Given the description of an element on the screen output the (x, y) to click on. 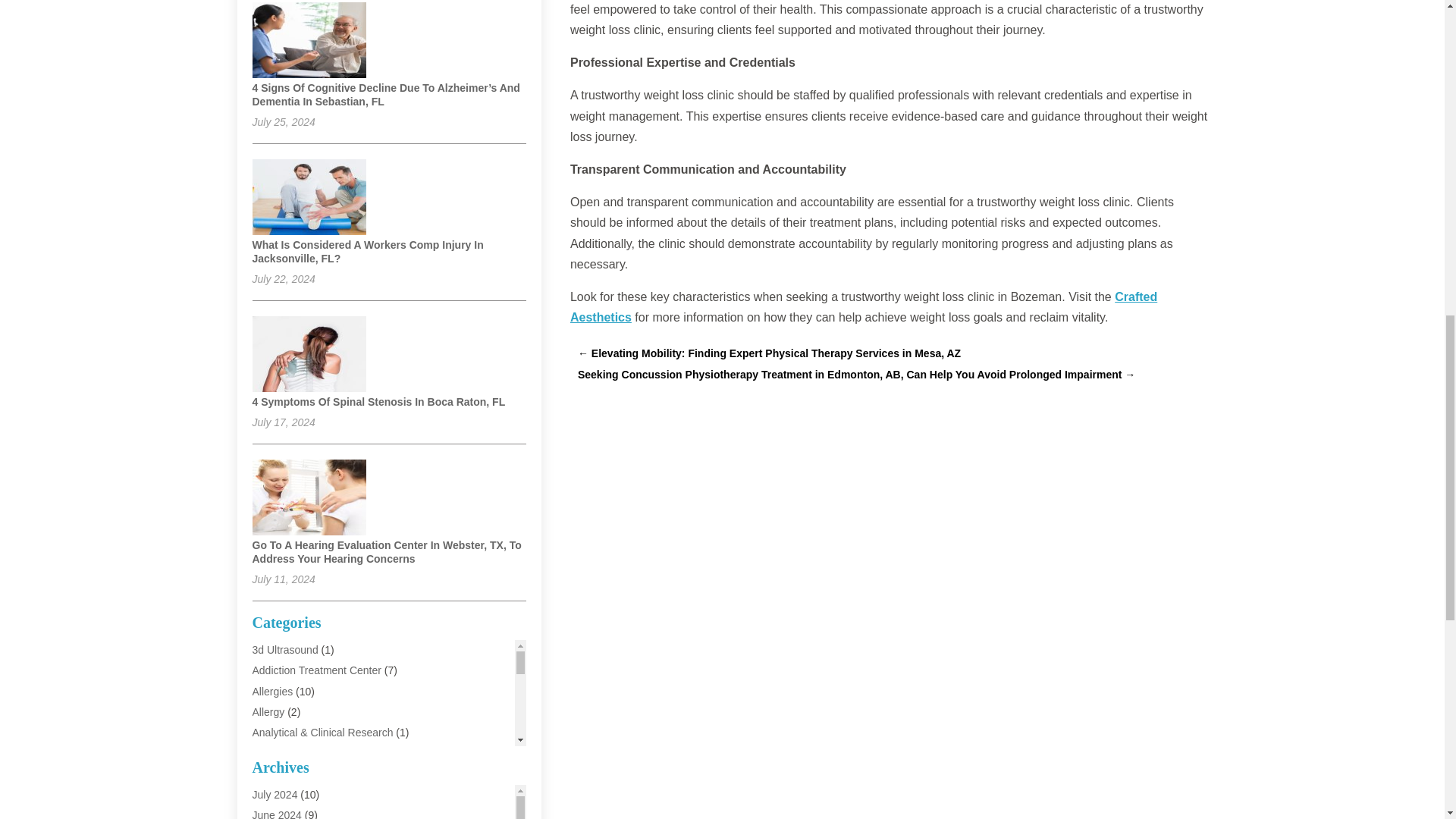
3d Ultrasound (284, 649)
Assisted Living (286, 794)
Animal Hospital (287, 773)
Animal Health (284, 752)
Allergy (267, 711)
Allergies (271, 691)
Assisted Living Facility (304, 814)
Addiction Treatment Center (315, 670)
4 Symptoms Of Spinal Stenosis In Boca Raton, FL (378, 401)
